Given the description of an element on the screen output the (x, y) to click on. 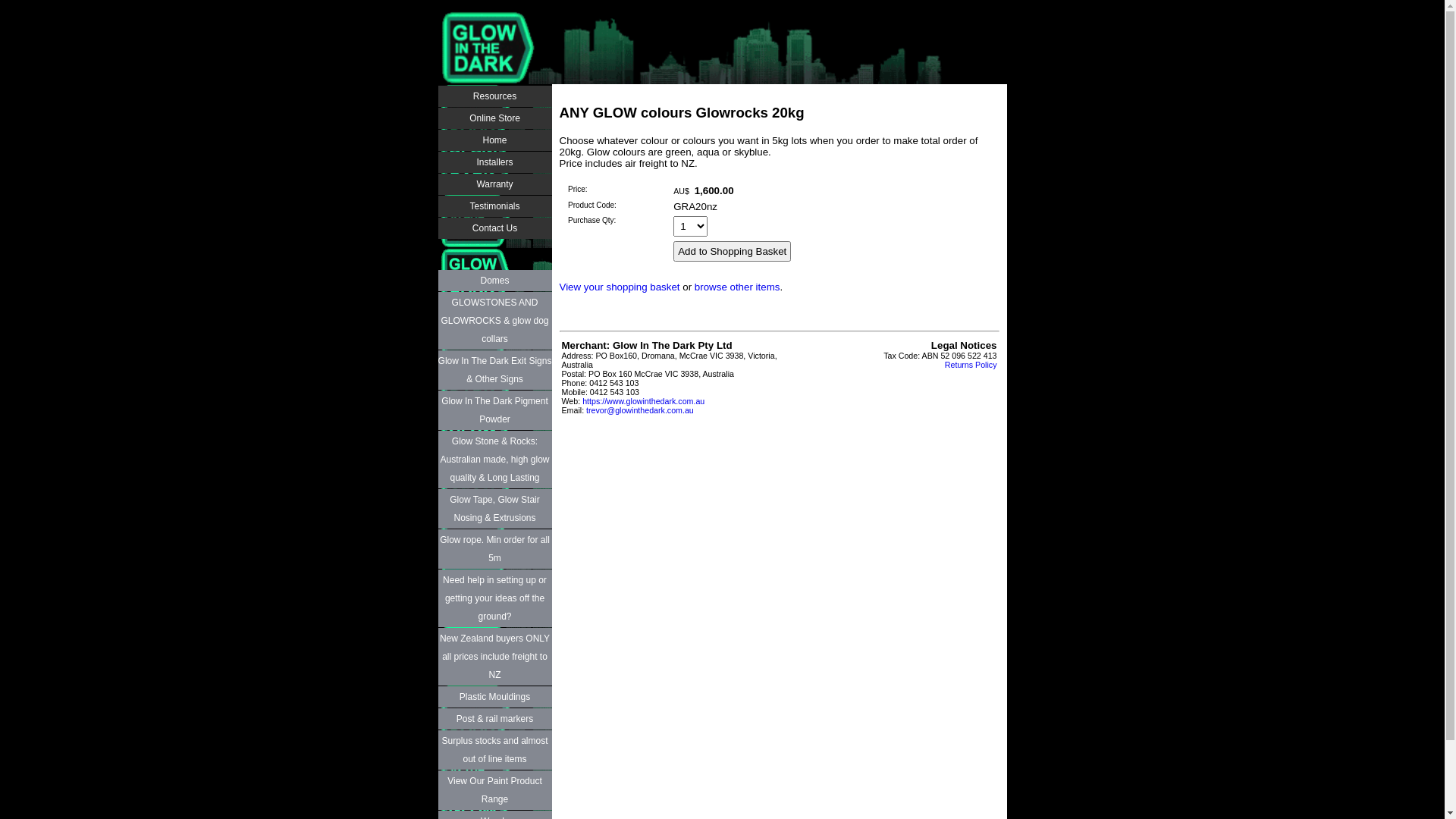
Warranty Element type: text (495, 183)
Glow Tape, Glow Stair Nosing & Extrusions Element type: text (495, 508)
Post & rail markers Element type: text (495, 718)
Glow In The Dark Pigment Powder Element type: text (495, 409)
Home Element type: text (495, 139)
Testimonials Element type: text (495, 205)
Contact Us Element type: text (495, 227)
trevor@glowinthedark.com.au Element type: text (639, 409)
View Our Paint Product Range Element type: text (495, 789)
View your shopping basket Element type: text (619, 286)
Surplus stocks and almost out of line items Element type: text (495, 749)
Installers Element type: text (495, 161)
New Zealand buyers ONLY all prices include freight to NZ Element type: text (495, 656)
GLOWSTONES AND GLOWROCKS & glow dog collars Element type: text (495, 320)
browse other items Element type: text (737, 286)
Returns Policy Element type: text (970, 364)
https://www.glowinthedark.com.au Element type: text (643, 400)
Domes Element type: text (495, 280)
Plastic Mouldings Element type: text (495, 696)
Online Store Element type: text (495, 117)
Resources Element type: text (495, 95)
Glow In The Dark Exit Signs & Other Signs Element type: text (495, 369)
Glow rope. Min order for all 5m Element type: text (495, 548)
